Given the description of an element on the screen output the (x, y) to click on. 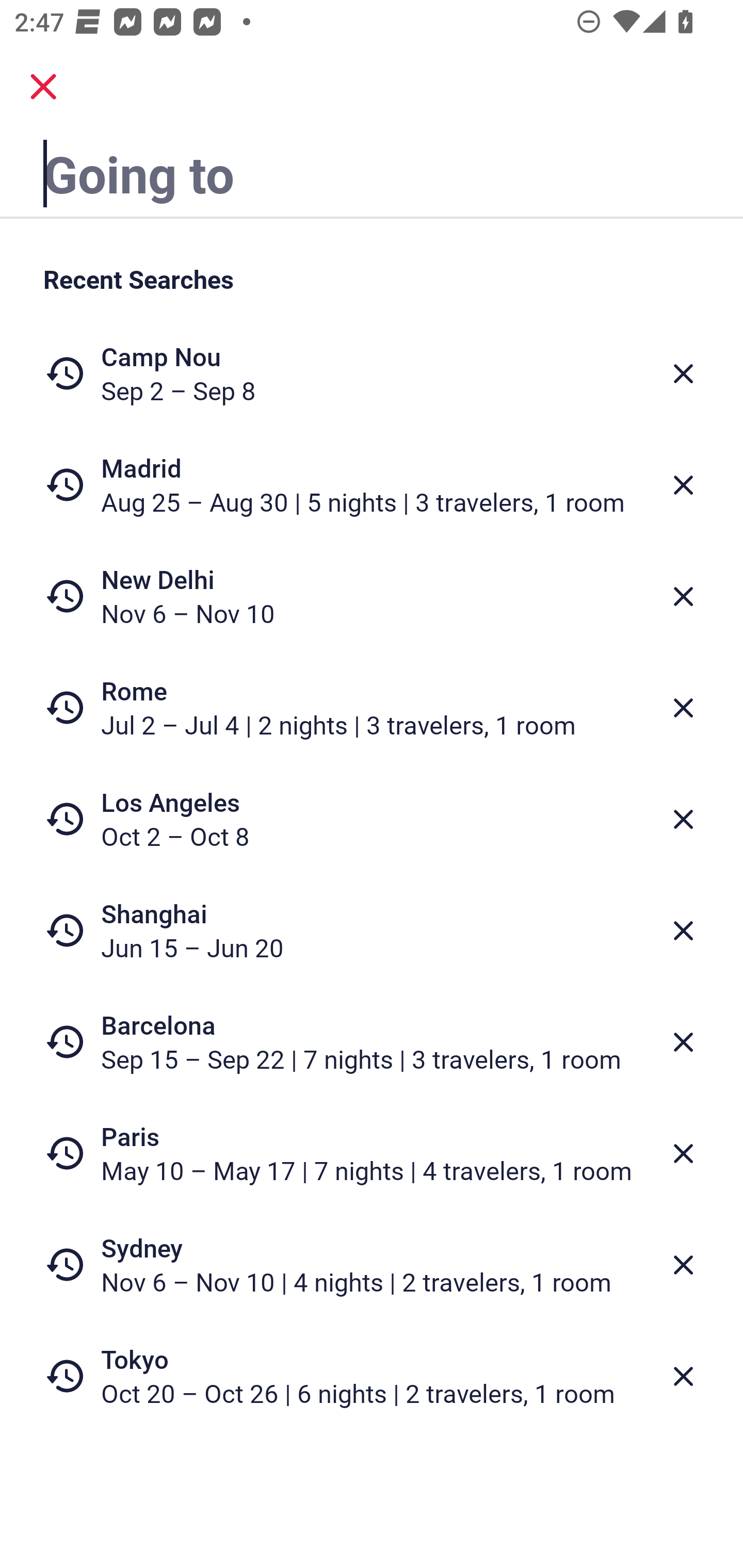
close. (43, 86)
Camp Nou Sep 2 – Sep 8 (371, 373)
Delete from recent searches (683, 373)
Delete from recent searches (683, 485)
New Delhi Nov 6 – Nov 10 (371, 596)
Delete from recent searches (683, 596)
Delete from recent searches (683, 707)
Los Angeles Oct 2 – Oct 8 (371, 818)
Delete from recent searches (683, 819)
Shanghai Jun 15 – Jun 20 (371, 930)
Delete from recent searches (683, 930)
Delete from recent searches (683, 1041)
Delete from recent searches (683, 1153)
Delete from recent searches (683, 1265)
Delete from recent searches (683, 1376)
